Given the description of an element on the screen output the (x, y) to click on. 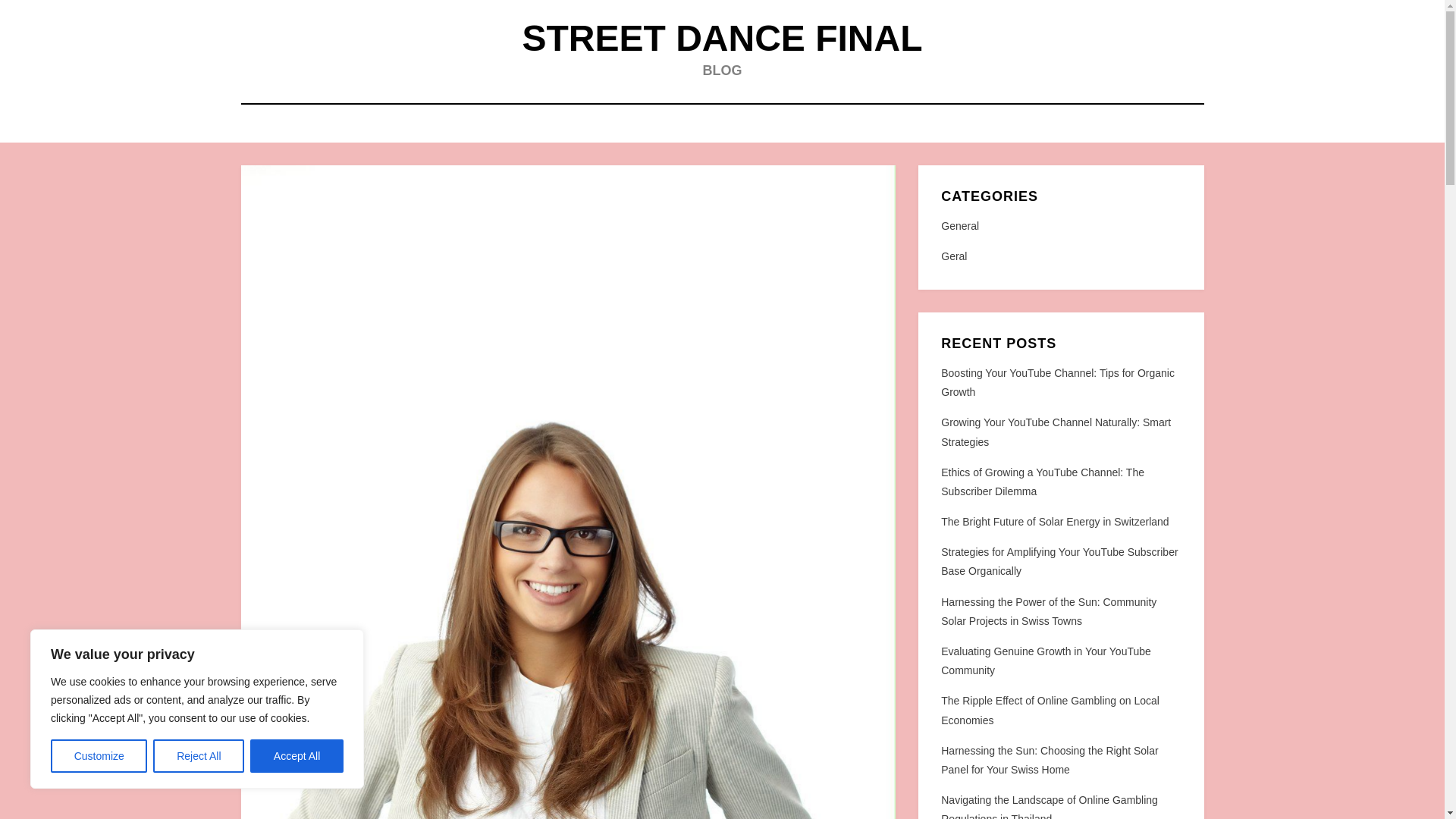
The Bright Future of Solar Energy in Switzerland (1054, 521)
Ethics of Growing a YouTube Channel: The Subscriber Dilemma (1042, 481)
STREET DANCE FINAL (721, 38)
Reject All (198, 756)
General (1060, 226)
Geral (1060, 256)
Customize (98, 756)
Street Dance Final (721, 38)
